Given the description of an element on the screen output the (x, y) to click on. 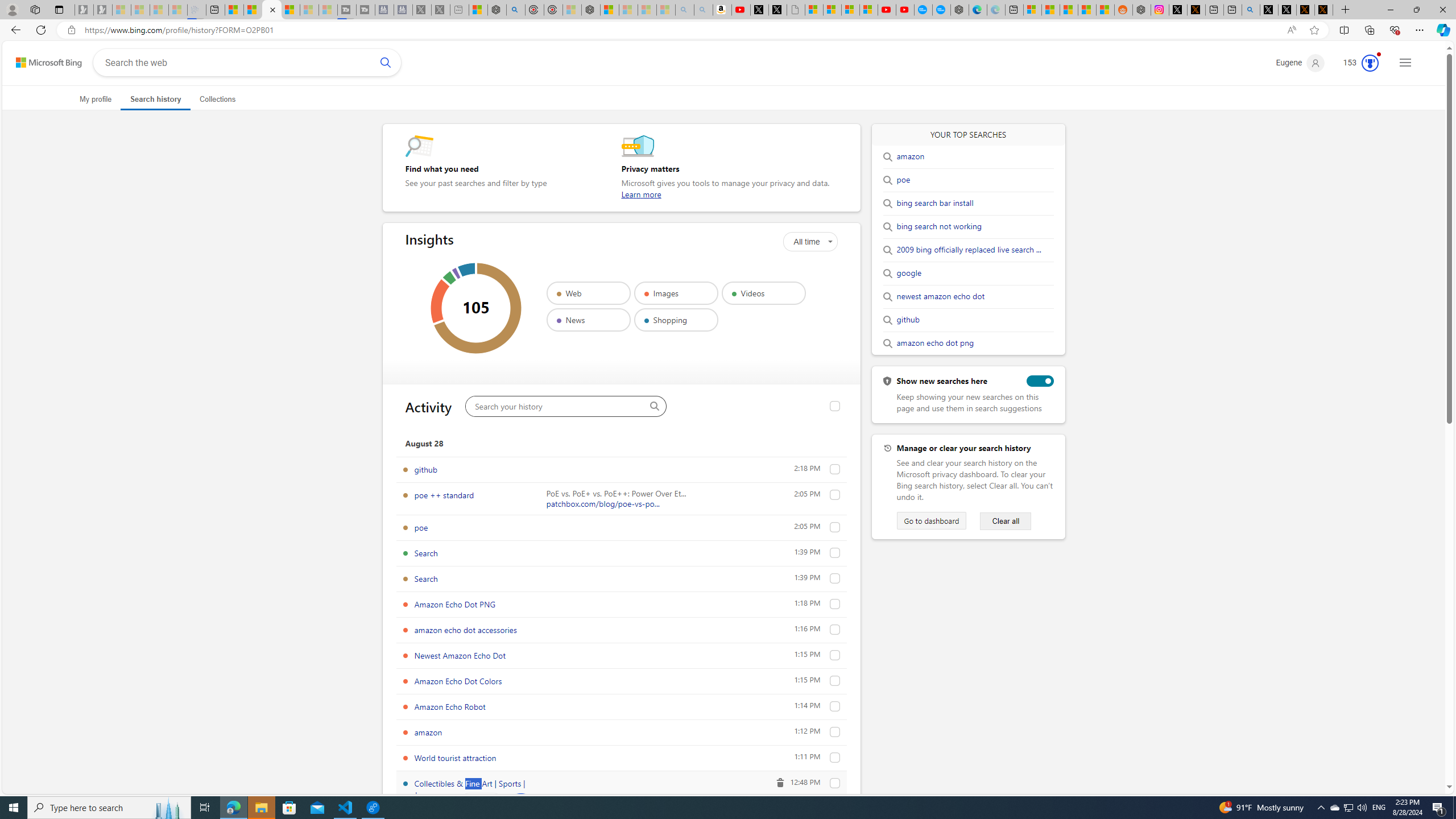
Search - Search History (271, 9)
Newest Amazon Echo Dot (459, 655)
google (908, 273)
Collectibles & Fine Art | Sports | Jerseys (834, 782)
Settings and quick links (1404, 62)
Go to dashboard (931, 520)
Microsoft Rewards 153 (1356, 62)
GitHub (@github) / X (1287, 9)
Untitled (795, 9)
Amazon Echo Dot PNG (834, 603)
